Given the description of an element on the screen output the (x, y) to click on. 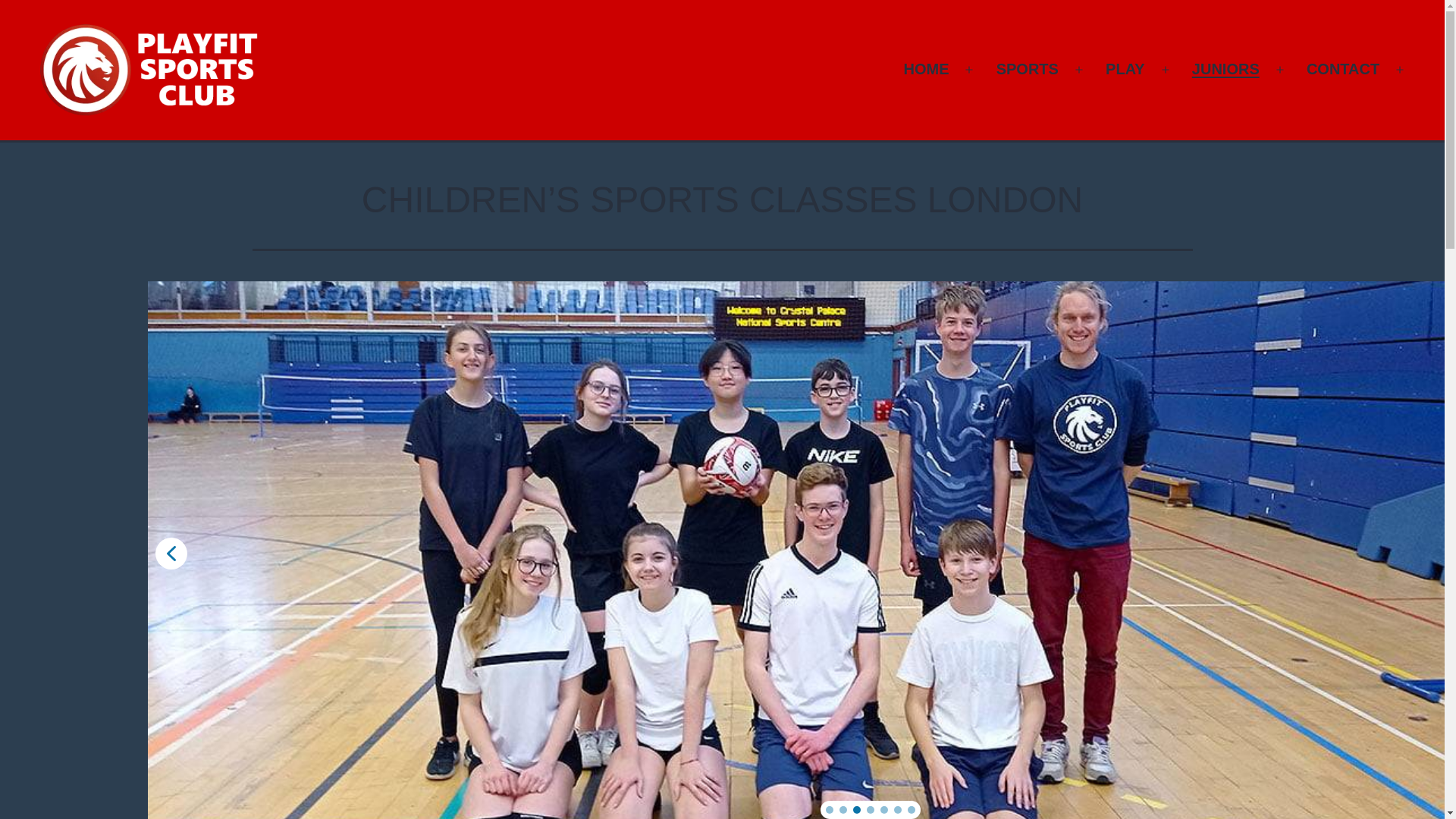
JUNIORS (1225, 69)
PLAY (1125, 69)
HOME (925, 69)
CONTACT (1343, 69)
SPORTS (1026, 69)
